Given the description of an element on the screen output the (x, y) to click on. 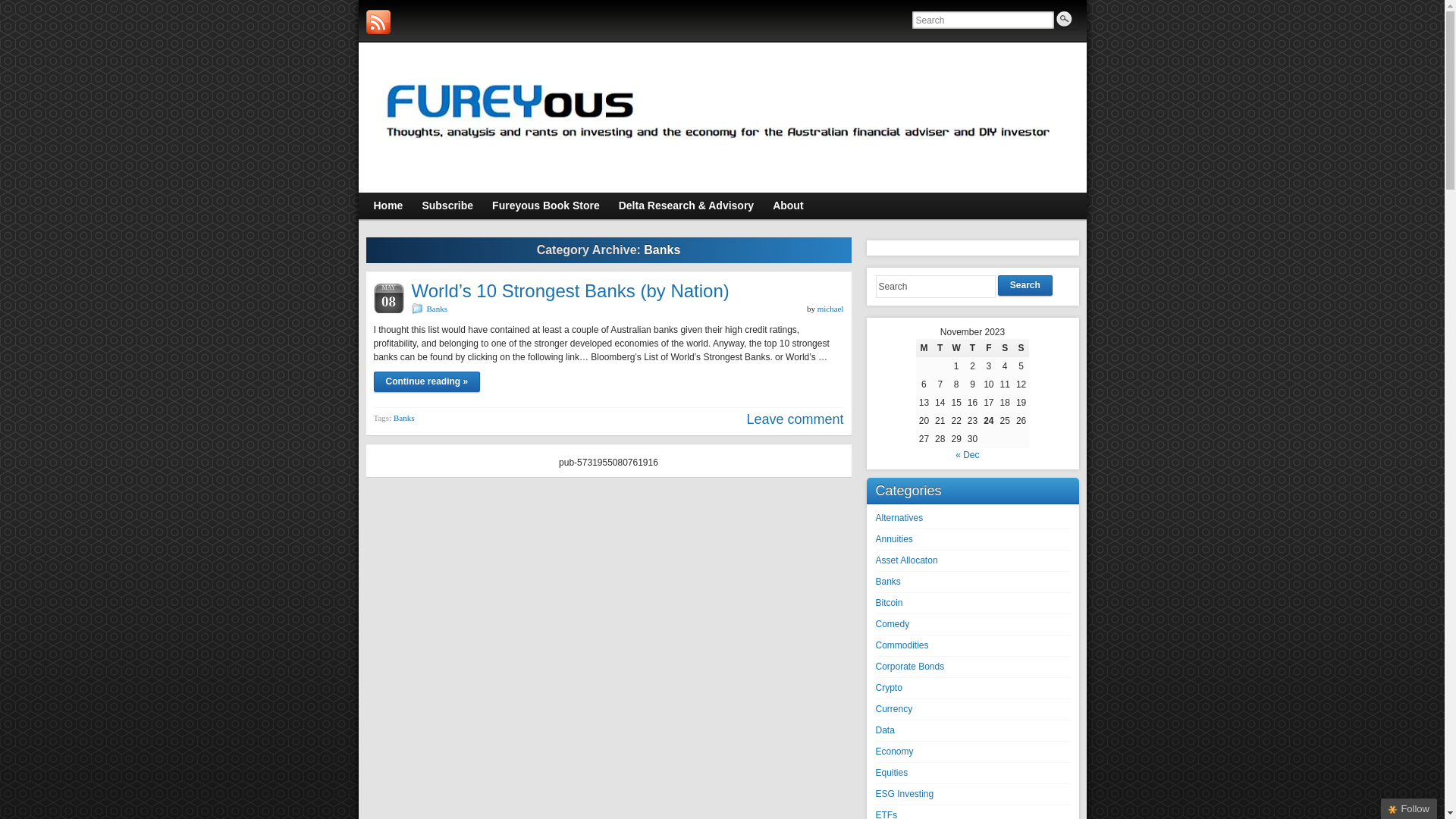
Comedy Element type: text (892, 623)
About Element type: text (787, 205)
Equities Element type: text (891, 772)
Commodities Element type: text (901, 645)
Data Element type: text (884, 729)
Annuities Element type: text (893, 538)
Corporate Bonds Element type: text (909, 666)
Home Element type: text (387, 205)
Currency Element type: text (893, 708)
Search Element type: text (1024, 285)
Banks Element type: text (436, 308)
Alternatives Element type: text (898, 517)
Crypto Element type: text (888, 687)
Fureyous Book Store Element type: text (545, 205)
Economy Element type: text (894, 751)
Bitcoin Element type: text (888, 602)
Subscribe Element type: text (447, 205)
Asset Allocaton Element type: text (906, 560)
Banks Element type: text (887, 581)
michael Element type: text (830, 308)
Leave comment Element type: text (794, 418)
Subscribe to Fureyous's RSS feed Element type: hover (377, 21)
Banks Element type: text (403, 417)
ESG Investing Element type: text (904, 793)
Delta Research & Advisory Element type: text (686, 205)
